Given the description of an element on the screen output the (x, y) to click on. 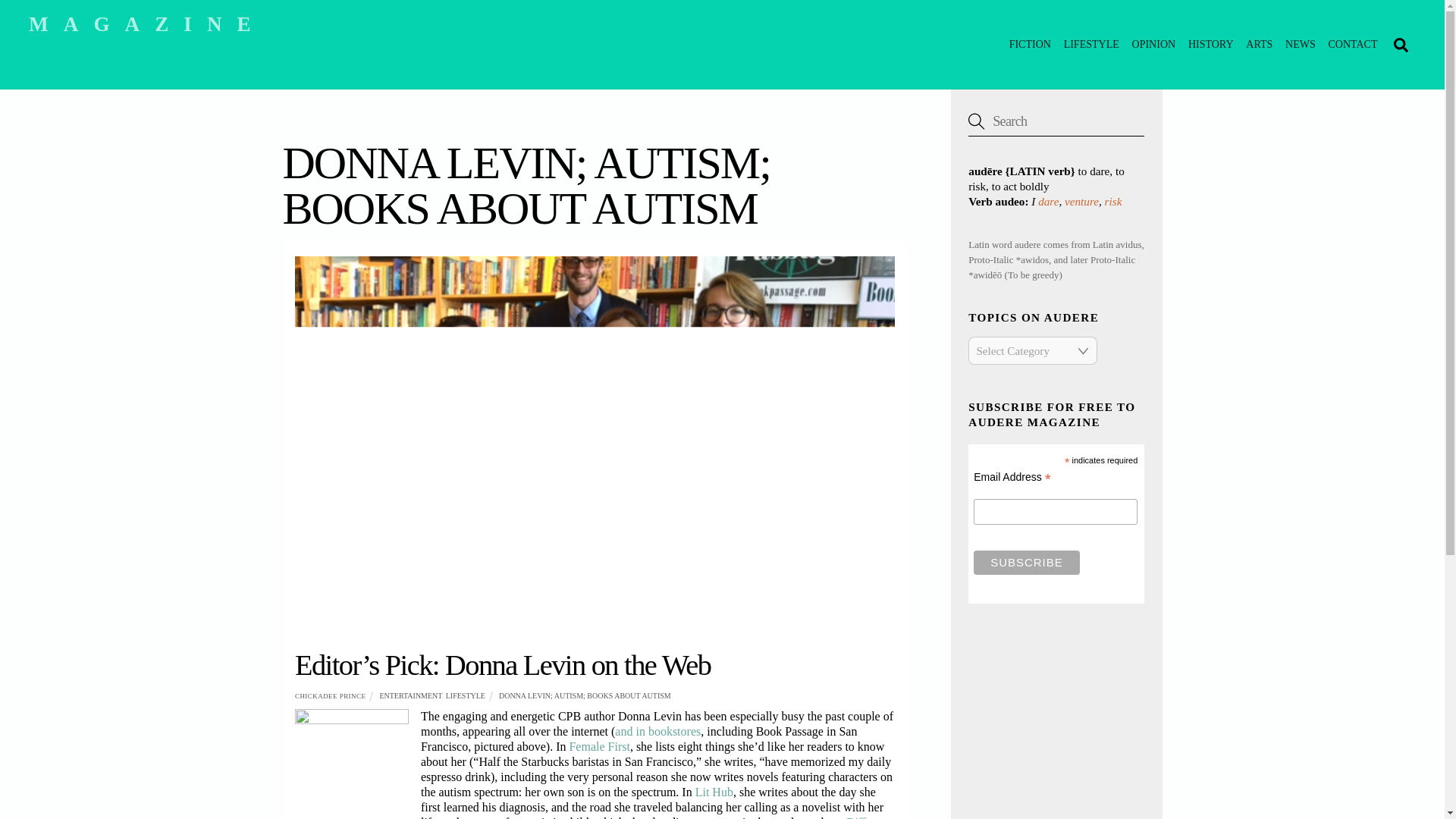
Magazine (147, 24)
risk (1113, 201)
FICTION (1030, 43)
MAGAZINE (147, 24)
dare (1048, 201)
Subscribe (1026, 562)
Search (1056, 121)
LIFESTYLE (722, 43)
DONNA LEVIN; AUTISM; BOOKS ABOUT AUTISM (1091, 43)
LIFESTYLE (585, 695)
ENTERTAINMENT (464, 695)
Female First (409, 695)
